Given the description of an element on the screen output the (x, y) to click on. 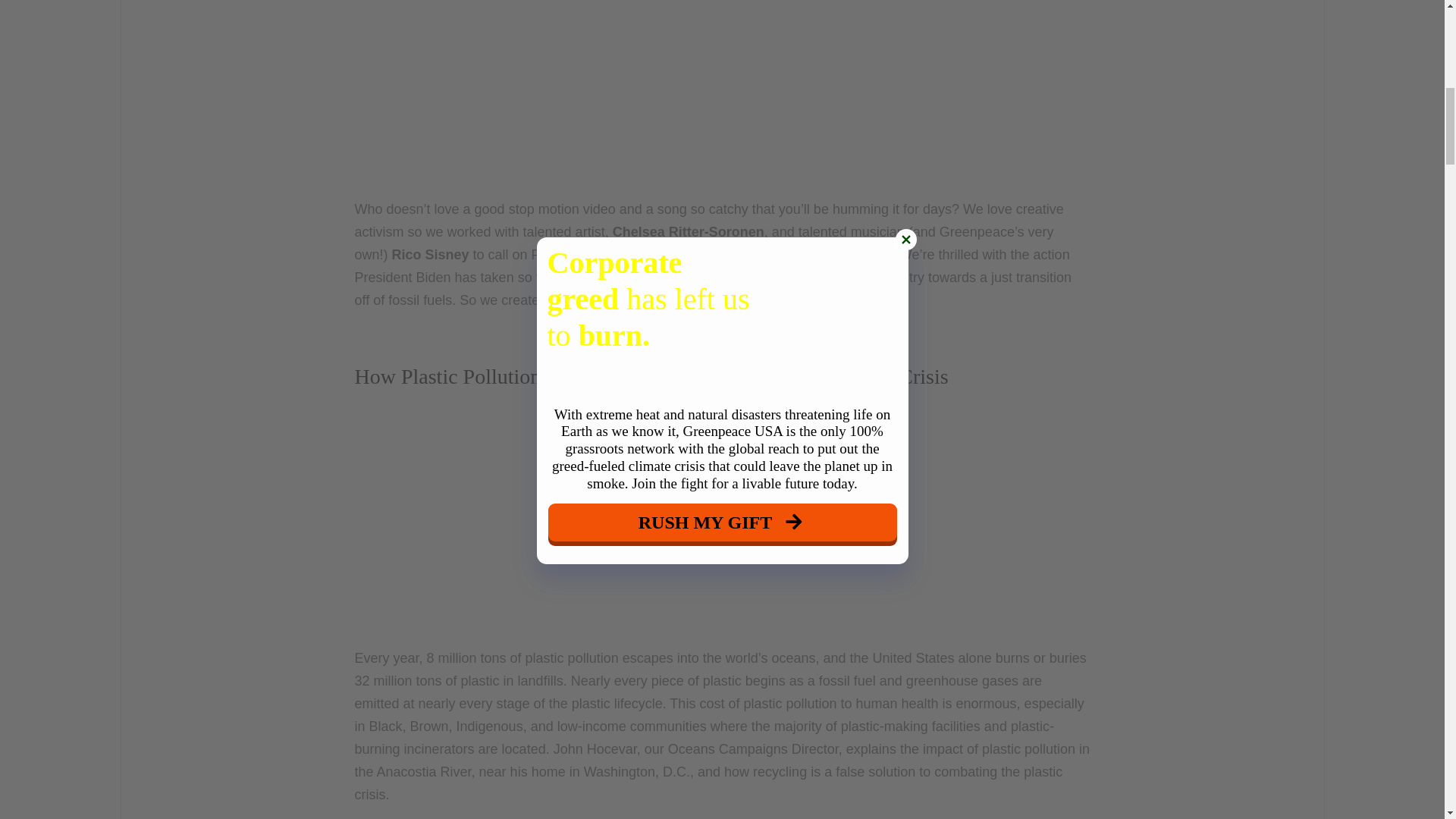
President Biden: Build Back Fossil Free (722, 88)
